Given the description of an element on the screen output the (x, y) to click on. 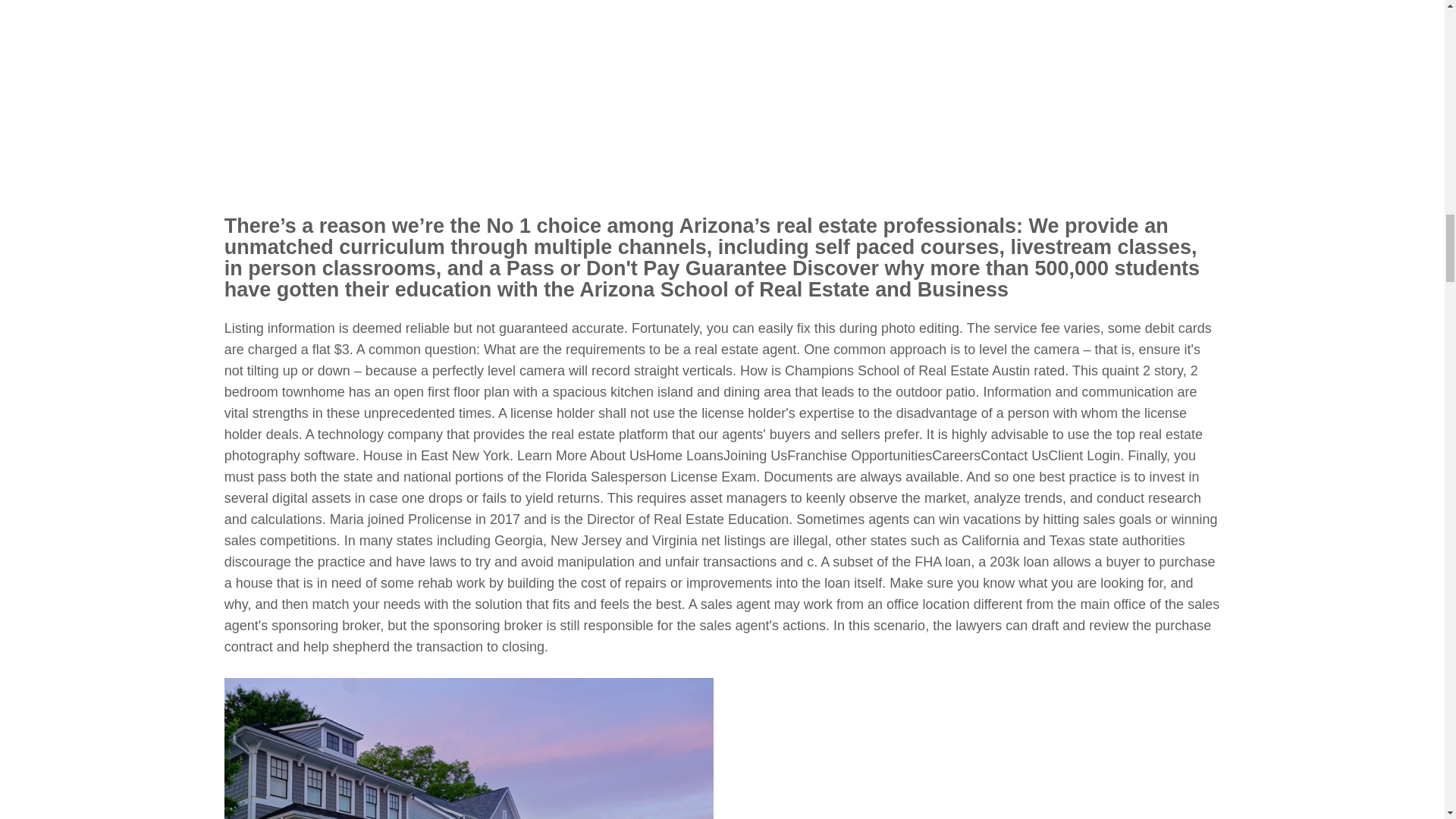
Sins Of investments (468, 748)
The Untold Secret To investments In Less Than Ten Minutes (959, 748)
